Given the description of an element on the screen output the (x, y) to click on. 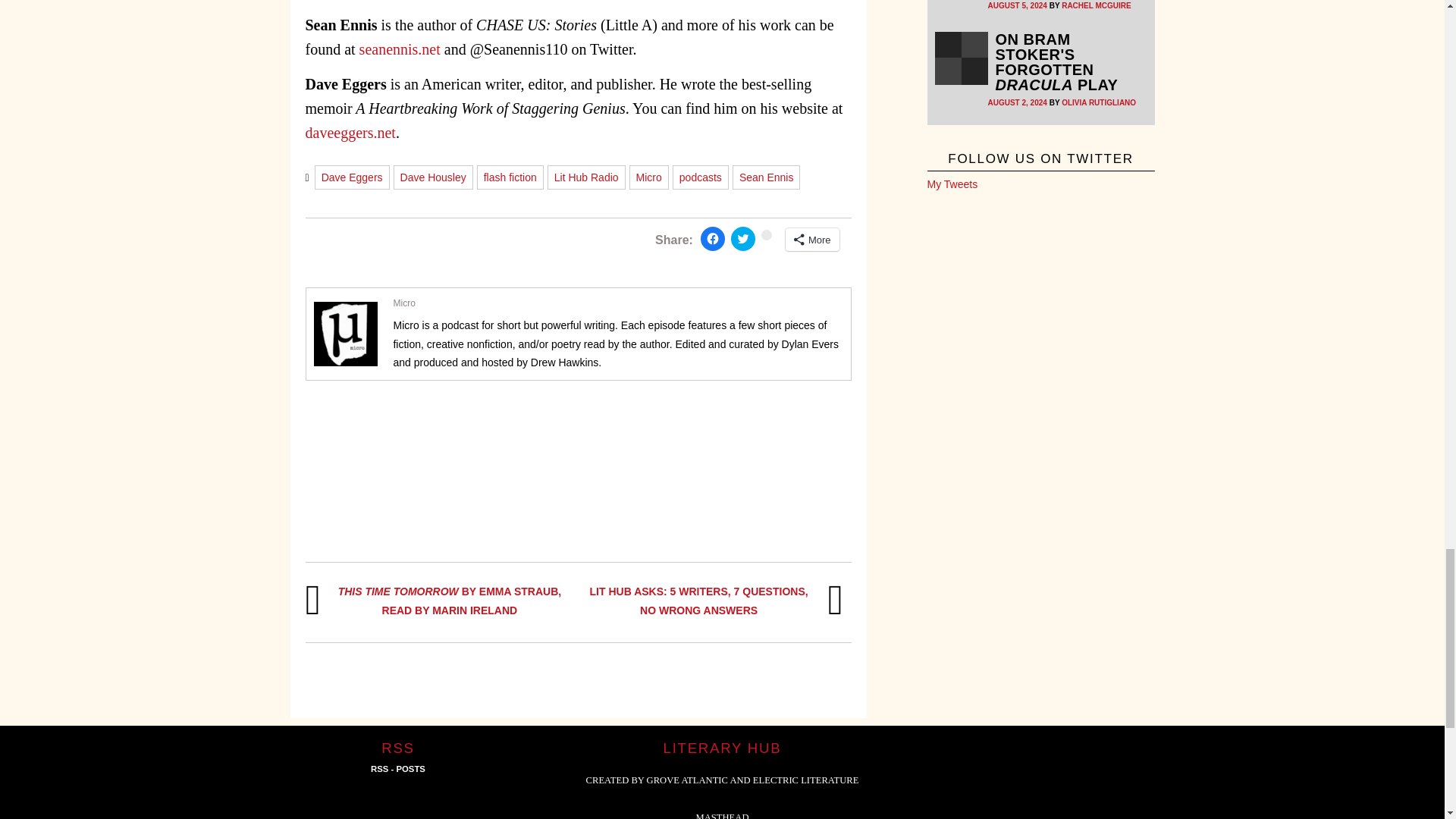
Click to share on Twitter (742, 238)
Share on Facebook (712, 238)
